Given the description of an element on the screen output the (x, y) to click on. 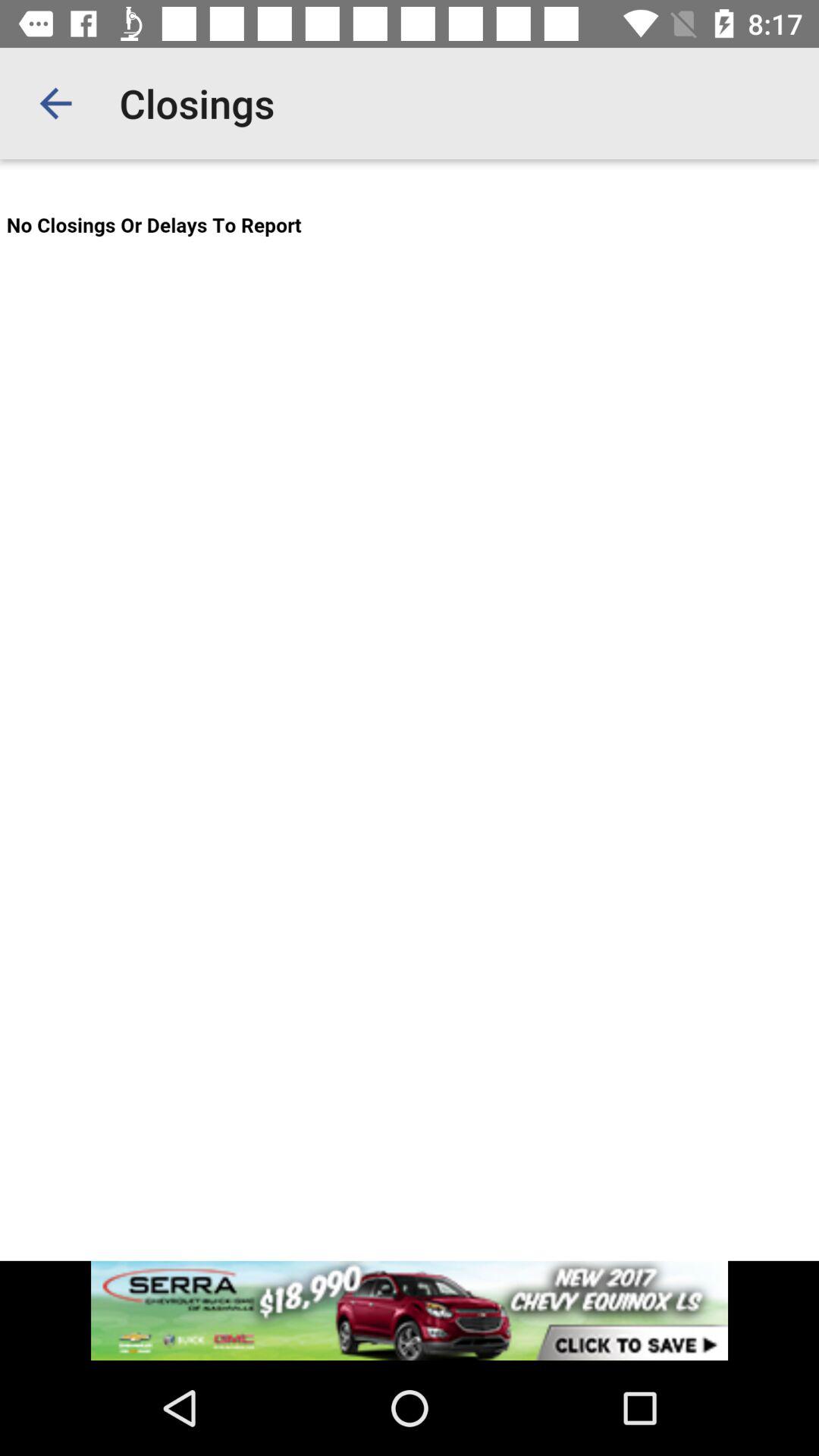
for advertisement (409, 1310)
